Given the description of an element on the screen output the (x, y) to click on. 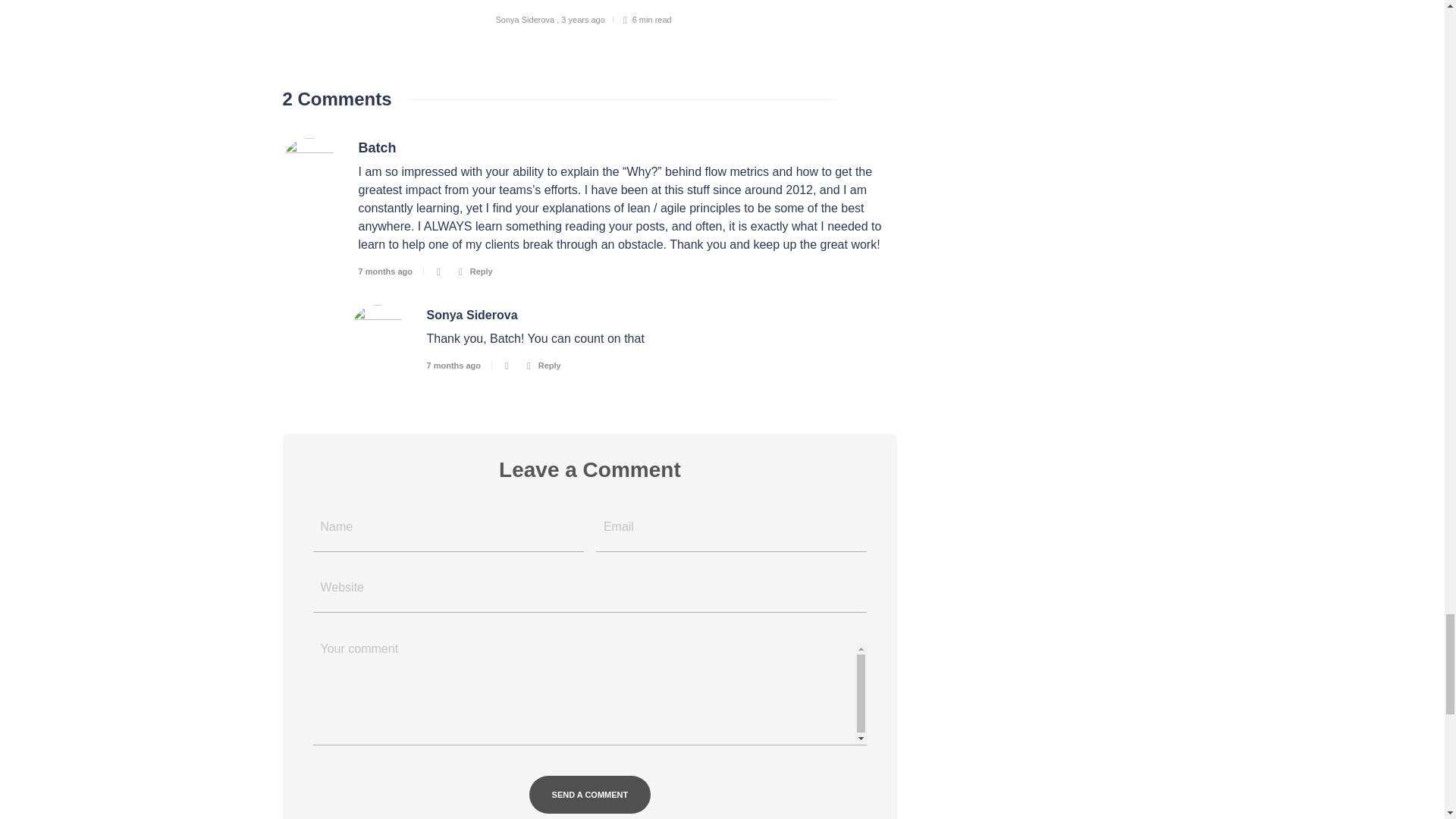
Send a comment (589, 794)
